Given the description of an element on the screen output the (x, y) to click on. 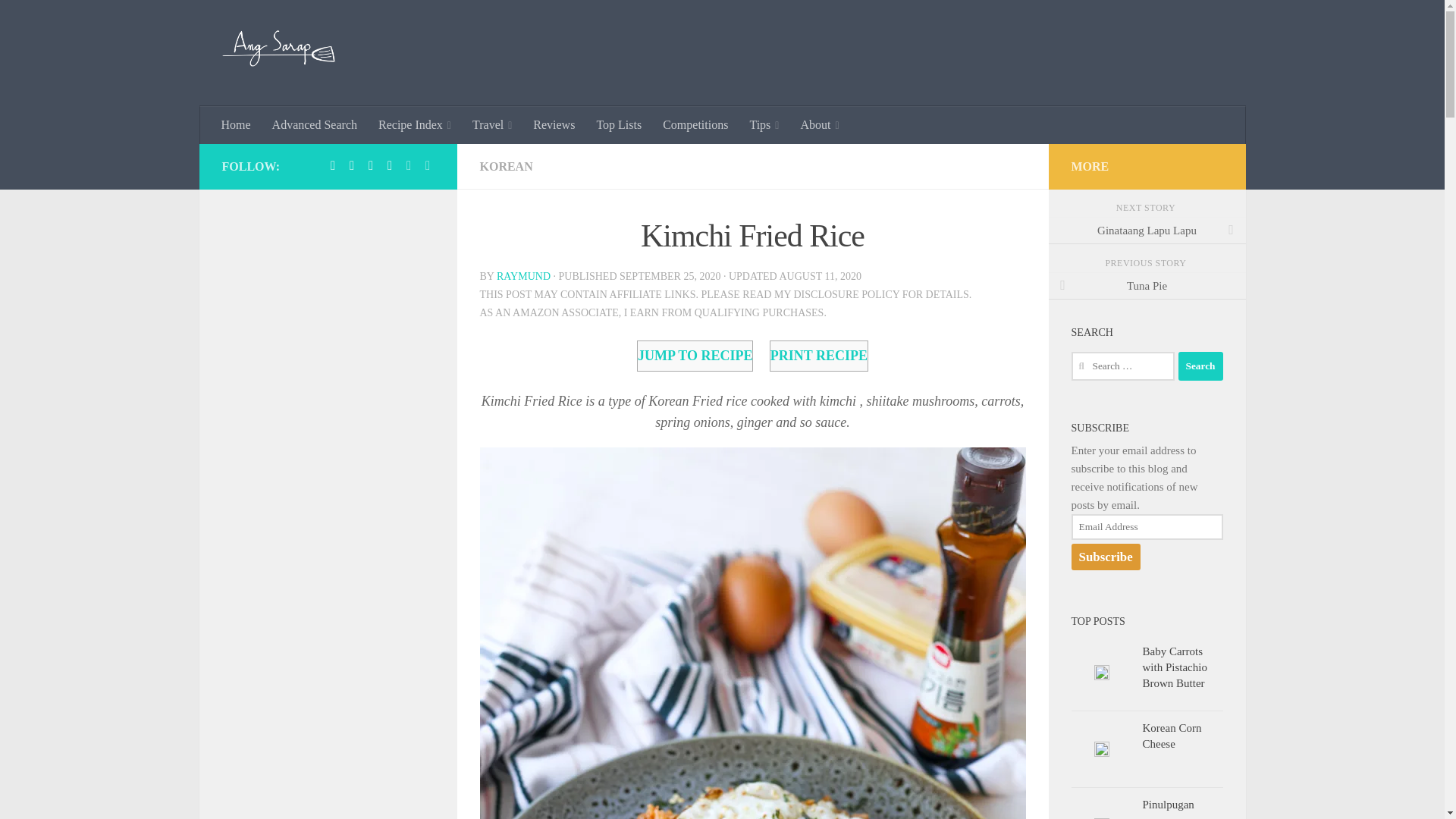
Search (1200, 366)
Search (1200, 366)
Facebook (332, 164)
Instagram (390, 164)
Home (236, 125)
Advanced Search (315, 125)
JUMP TO RECIPE (694, 355)
Follow us on Youtube (427, 164)
Skip to content (59, 20)
Tumblr (370, 164)
